Given the description of an element on the screen output the (x, y) to click on. 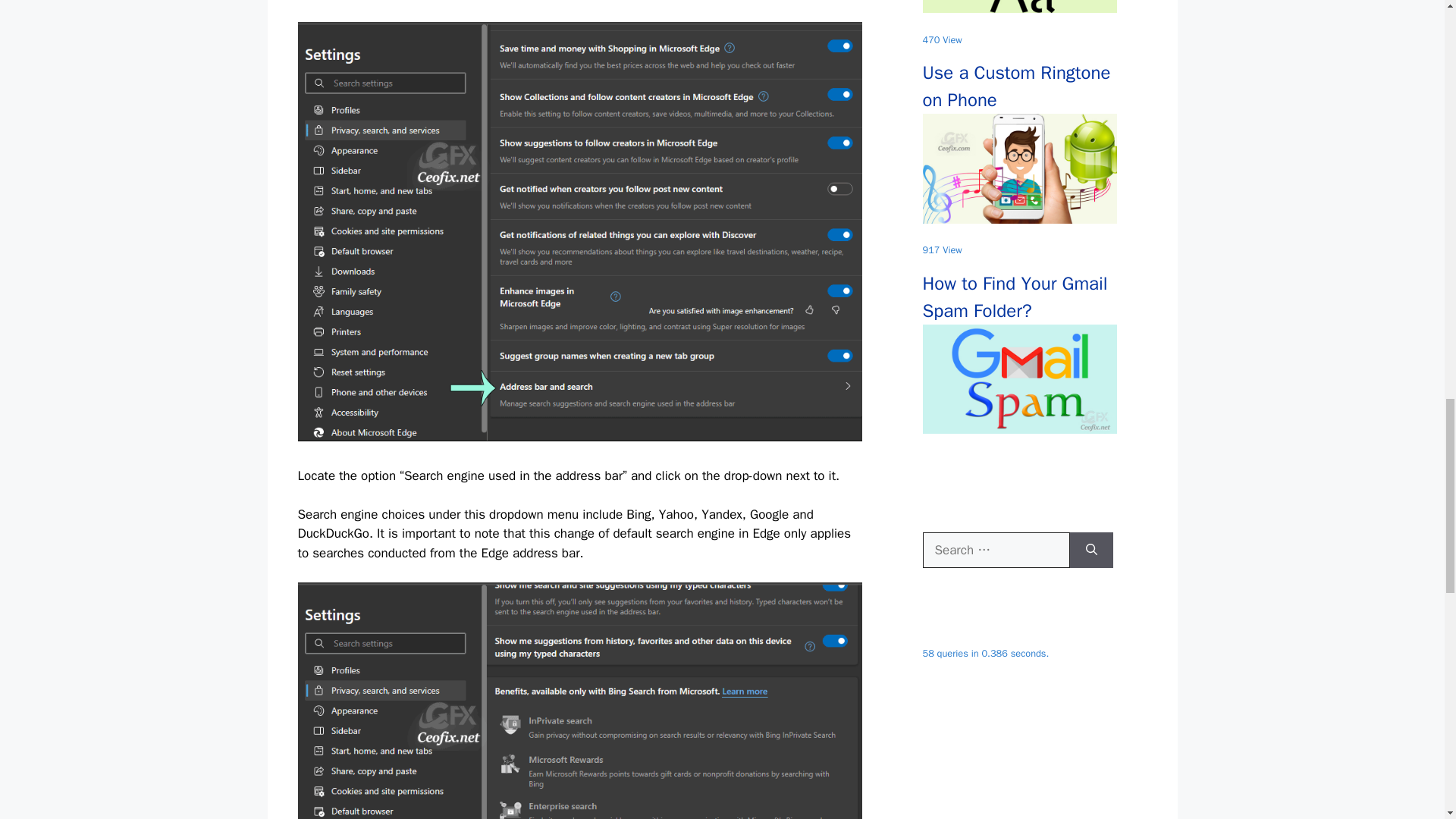
 the option Search engine (579, 700)
